Given the description of an element on the screen output the (x, y) to click on. 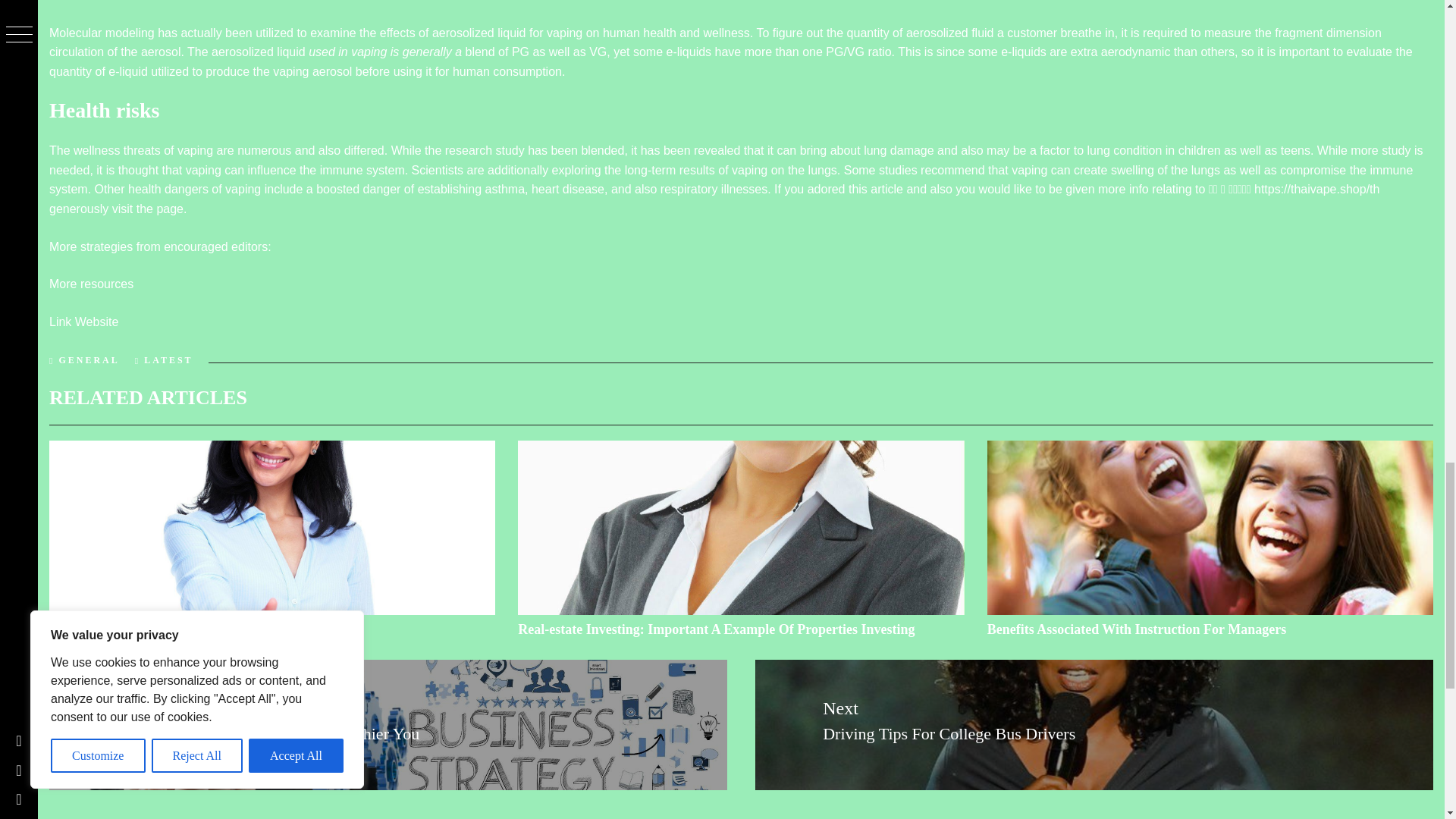
Magic Mushrooms (103, 629)
Link Website (83, 321)
More resources (91, 283)
LATEST (168, 359)
GENERAL (88, 359)
aerosolized liquid (258, 51)
